Given the description of an element on the screen output the (x, y) to click on. 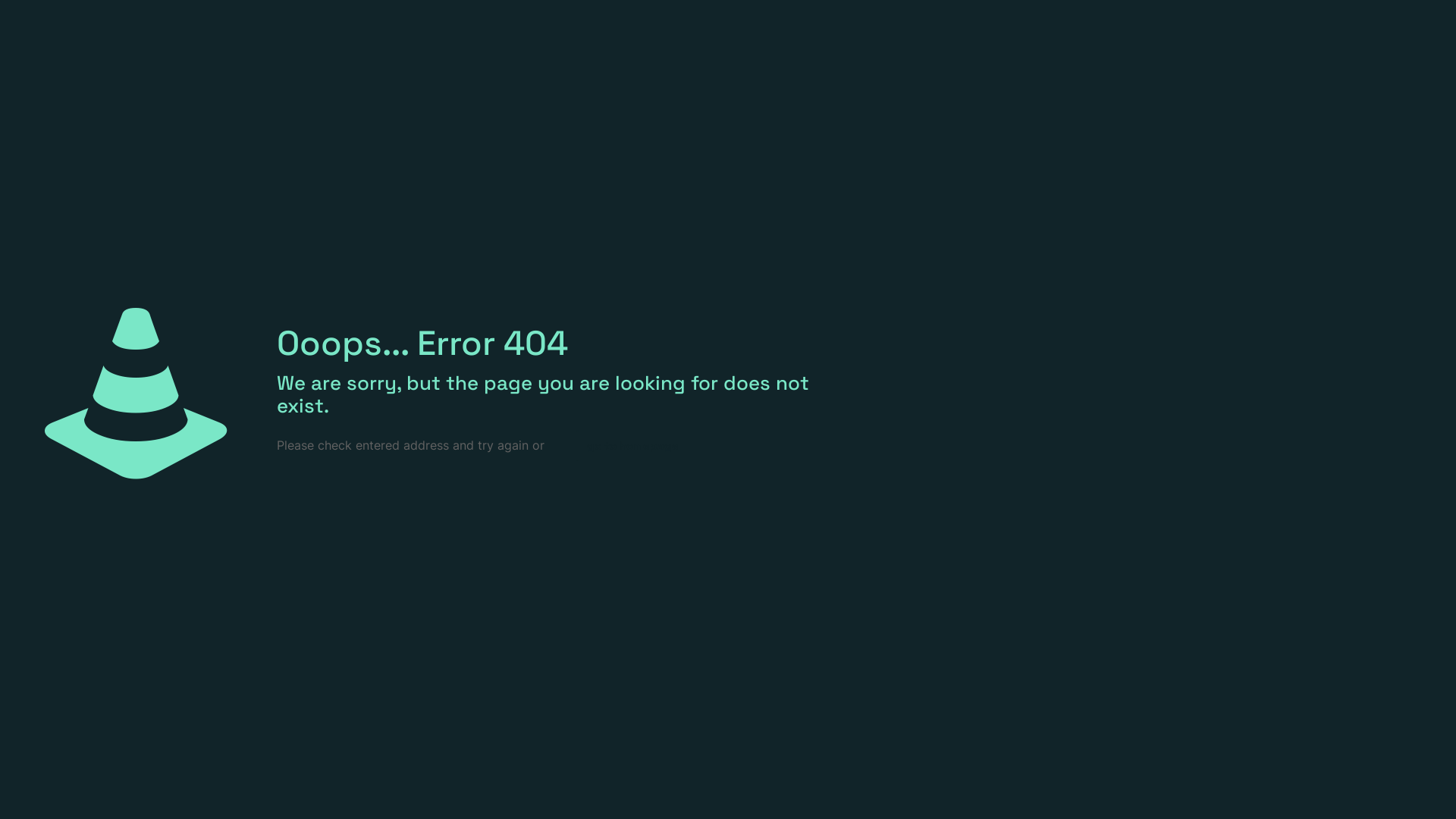
go to homepage Element type: text (632, 445)
